Given the description of an element on the screen output the (x, y) to click on. 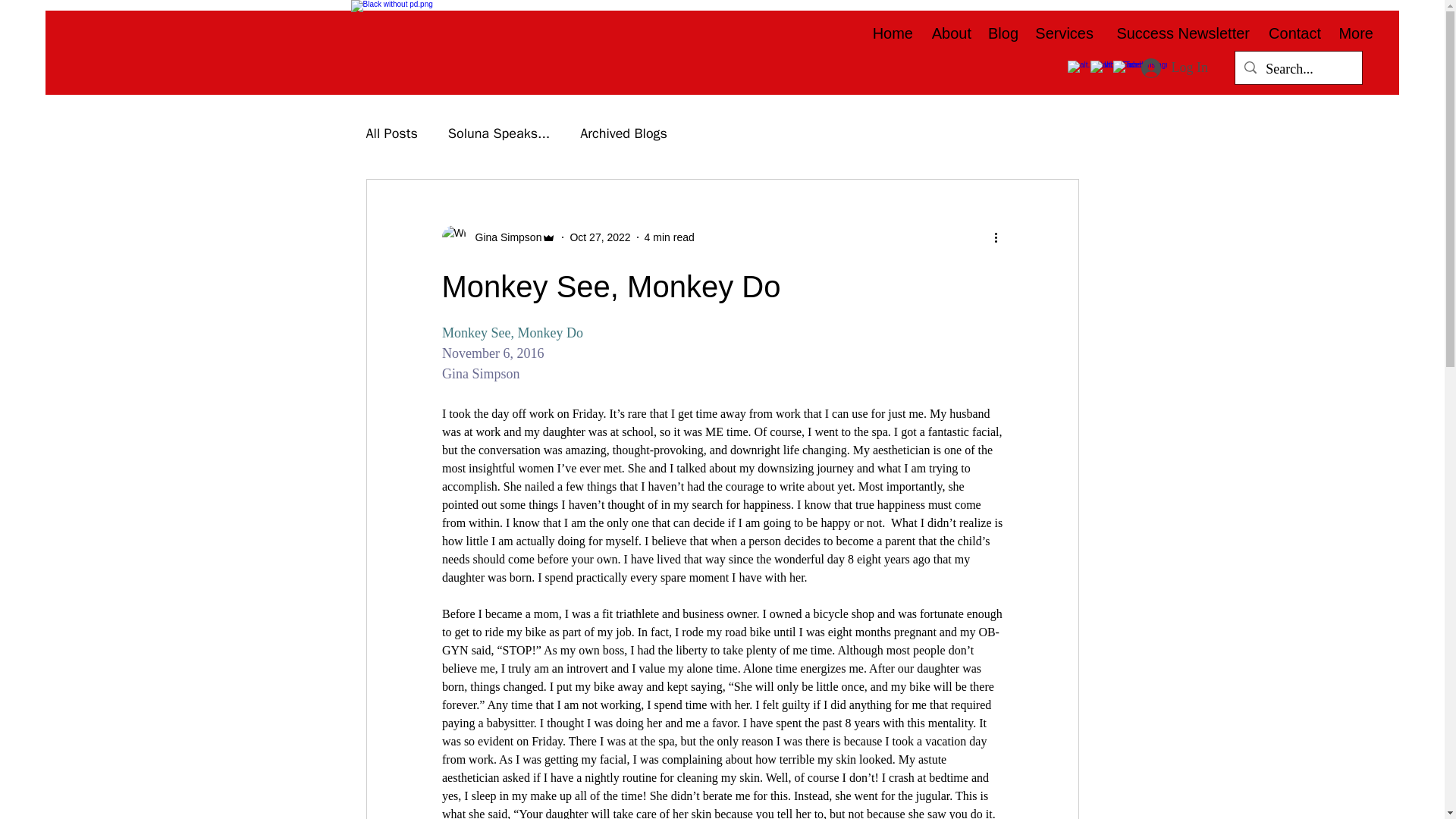
Gina Simpson (503, 236)
Contact (1292, 31)
Oct 27, 2022 (599, 236)
Gina Simpson (480, 373)
Soluna Speaks... (499, 133)
Log In (1173, 68)
Monkey See, Monkey Do (511, 332)
Archived Blogs (622, 133)
Gina Simpson (498, 237)
All Posts (390, 133)
